Given the description of an element on the screen output the (x, y) to click on. 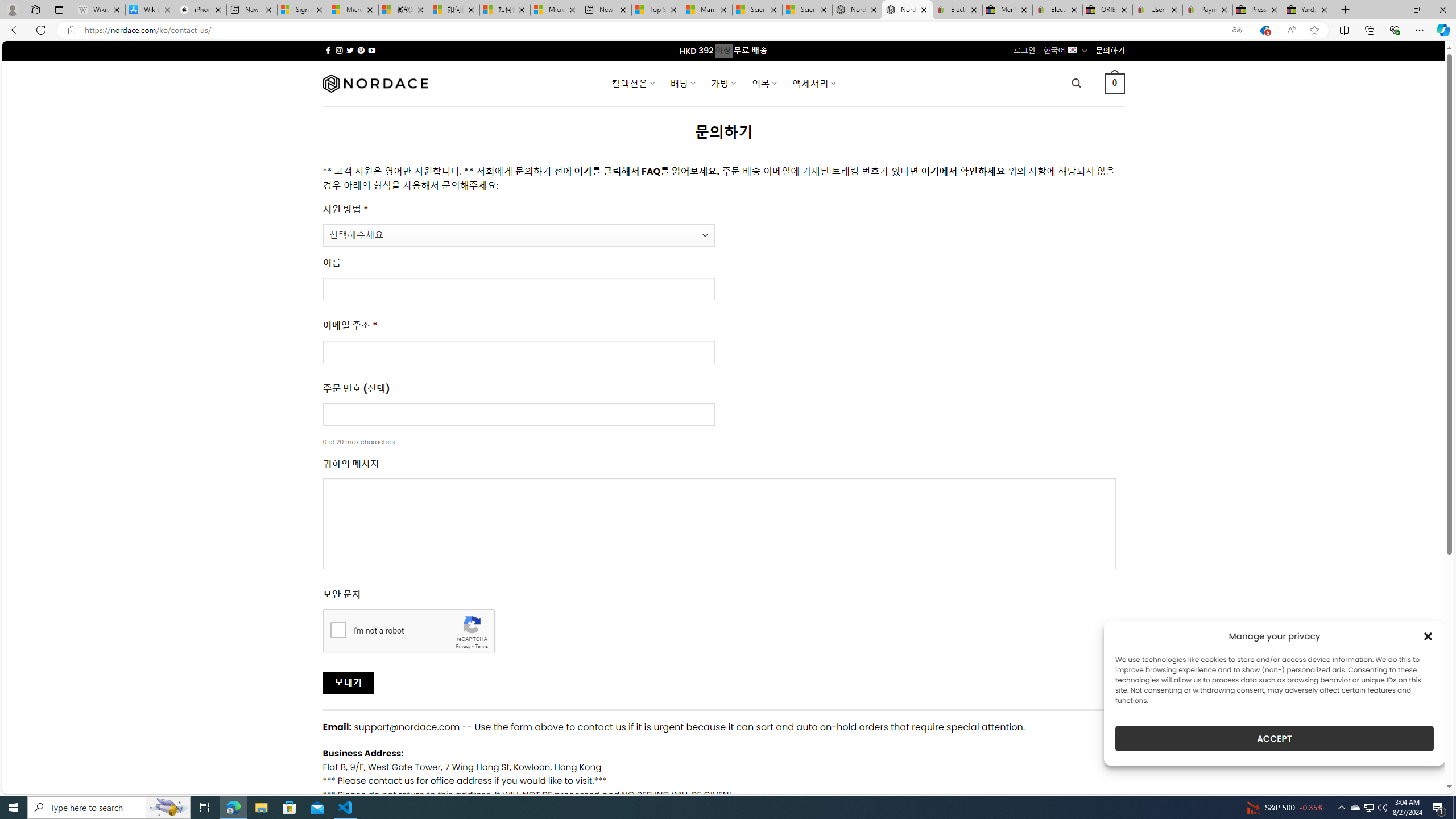
  0   (1115, 83)
Follow on Instagram (338, 50)
User Privacy Notice | eBay (1158, 9)
